Given the description of an element on the screen output the (x, y) to click on. 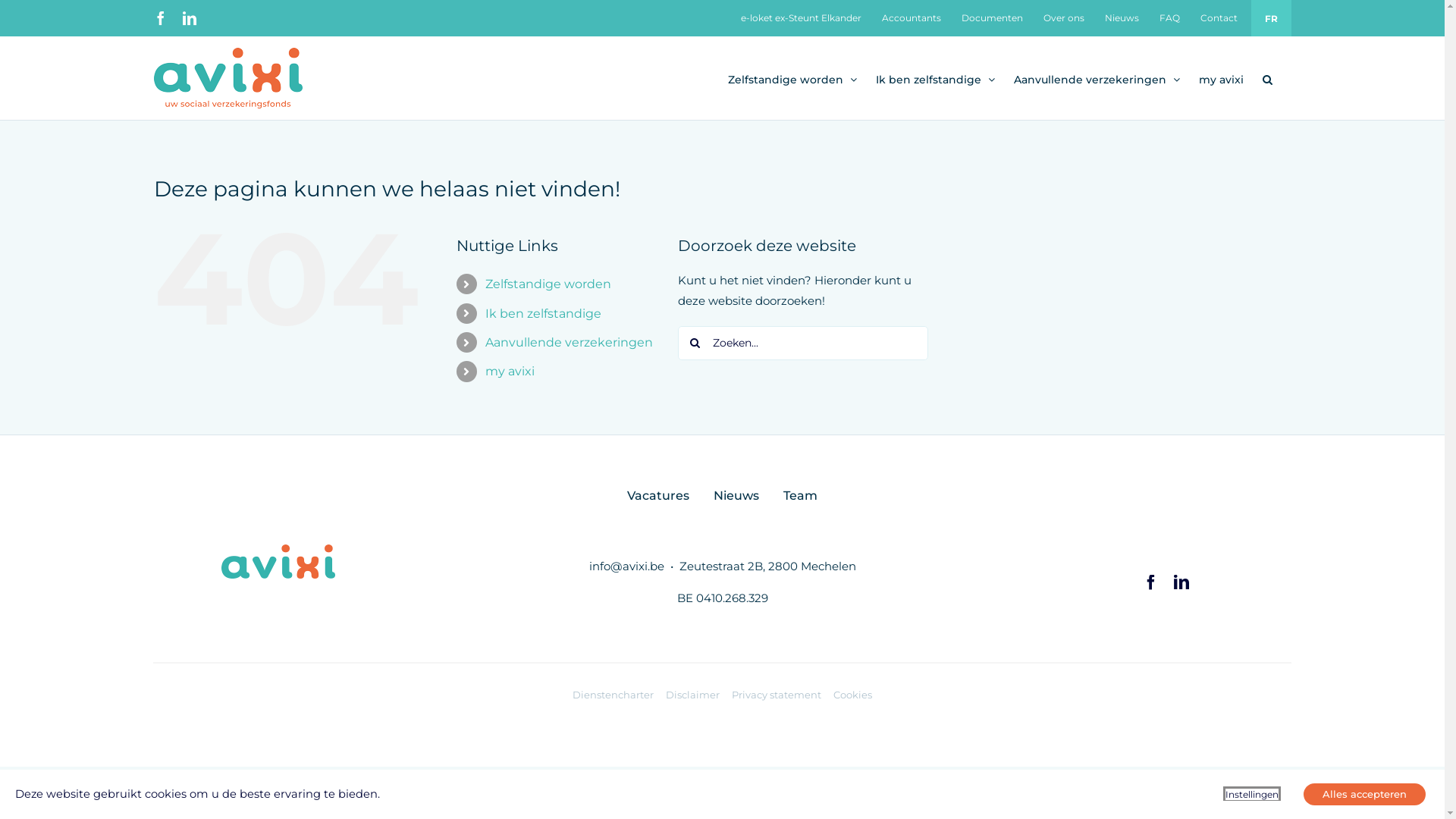
Contact Element type: text (1218, 18)
Documenten Element type: text (991, 18)
info@avixi.be Element type: text (625, 565)
Zelfstandige worden Element type: text (548, 283)
Instellingen Element type: text (1251, 793)
Zoeken Element type: hover (1266, 77)
Vacatures Element type: text (658, 496)
Ik ben zelfstandige Element type: text (543, 313)
my avixi Element type: text (1220, 77)
Nieuws Element type: text (1121, 18)
Team Element type: text (800, 496)
my avixi Element type: text (509, 371)
Aanvullende verzekeringen Element type: text (1096, 77)
LinkedIn Element type: text (188, 18)
FAQ Element type: text (1169, 18)
LinkedIn Element type: hover (1181, 581)
Disclaimer Element type: text (692, 694)
Cookies Element type: text (852, 694)
Aanvullende verzekeringen Element type: text (568, 342)
Facebook Element type: text (159, 18)
e-loket ex-Steunt Elkander Element type: text (801, 18)
Alles accepteren Element type: text (1364, 794)
AVIXI_logo_RGB@2x Element type: hover (278, 561)
Dienstencharter Element type: text (612, 694)
Zelfstandige worden Element type: text (792, 77)
Ik ben zelfstandige Element type: text (934, 77)
Privacy statement Element type: text (776, 694)
Accountants Element type: text (911, 18)
Nieuws Element type: text (736, 496)
Facebook Element type: hover (1150, 581)
Over ons Element type: text (1062, 18)
FR Element type: text (1271, 18)
